Given the description of an element on the screen output the (x, y) to click on. 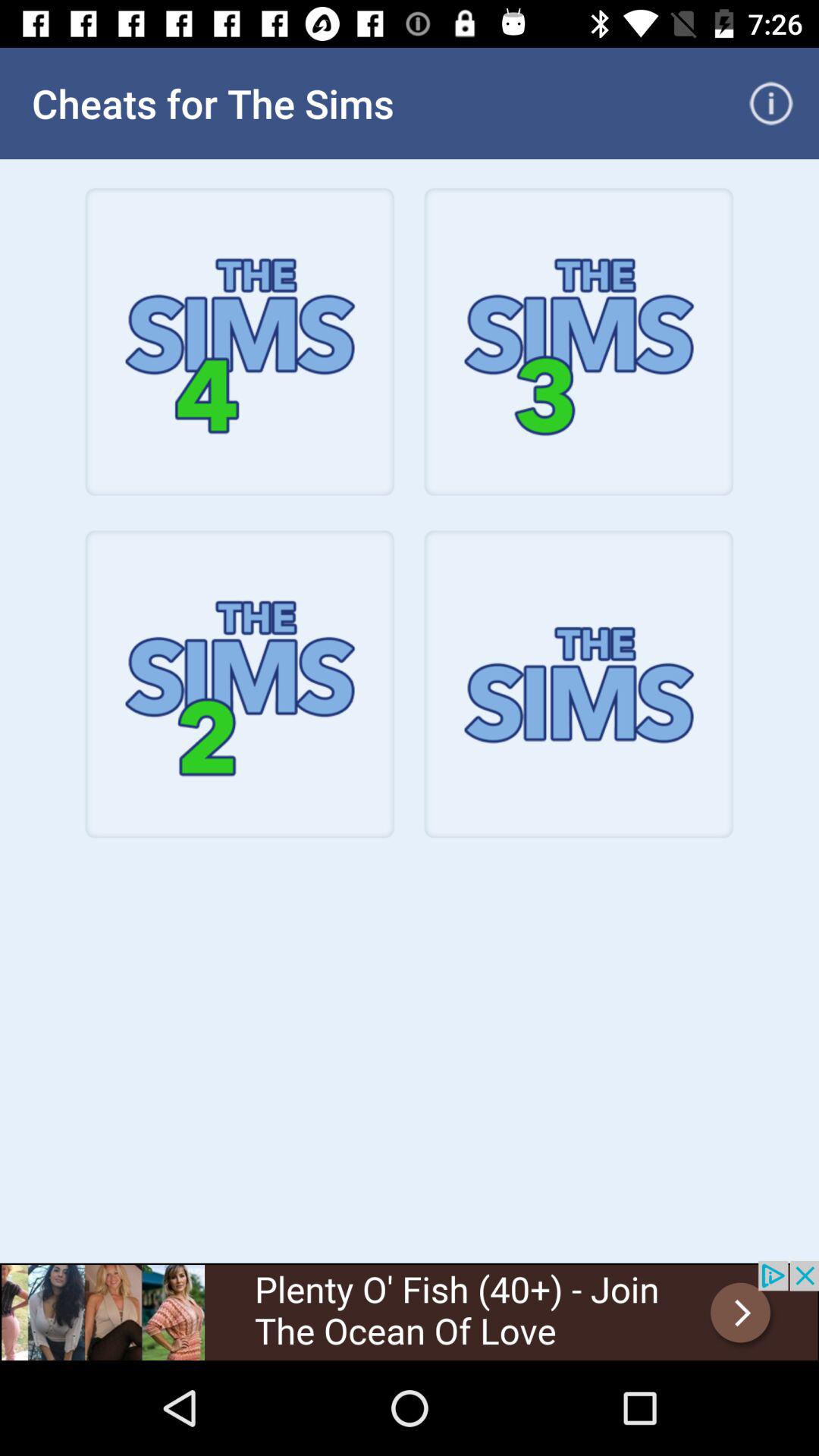
banner advertisement (409, 1310)
